Given the description of an element on the screen output the (x, y) to click on. 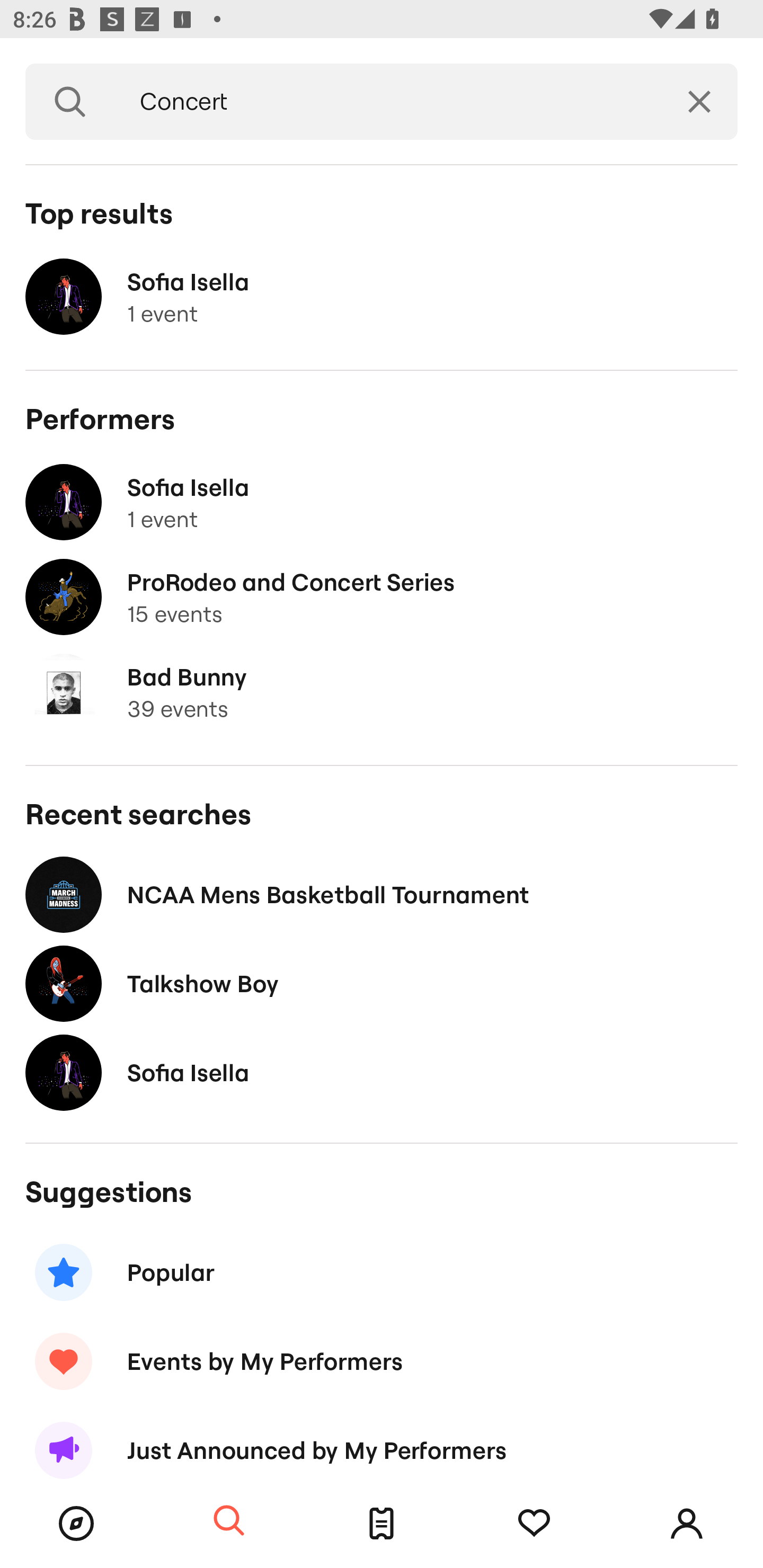
Search (69, 101)
Concert (387, 101)
Clear (699, 101)
Sofia Isella 1 event (381, 296)
Sofia Isella 1 event (381, 502)
ProRodeo and Concert Series 15 events (381, 597)
Bad Bunny 39 events (381, 692)
NCAA Mens Basketball Tournament (381, 894)
Talkshow Boy (381, 983)
Sofia Isella (381, 1072)
Popular (381, 1272)
Events by My Performers (381, 1361)
Just Announced by My Performers (381, 1442)
Browse (76, 1523)
Search (228, 1521)
Tickets (381, 1523)
Tracking (533, 1523)
Account (686, 1523)
